Given the description of an element on the screen output the (x, y) to click on. 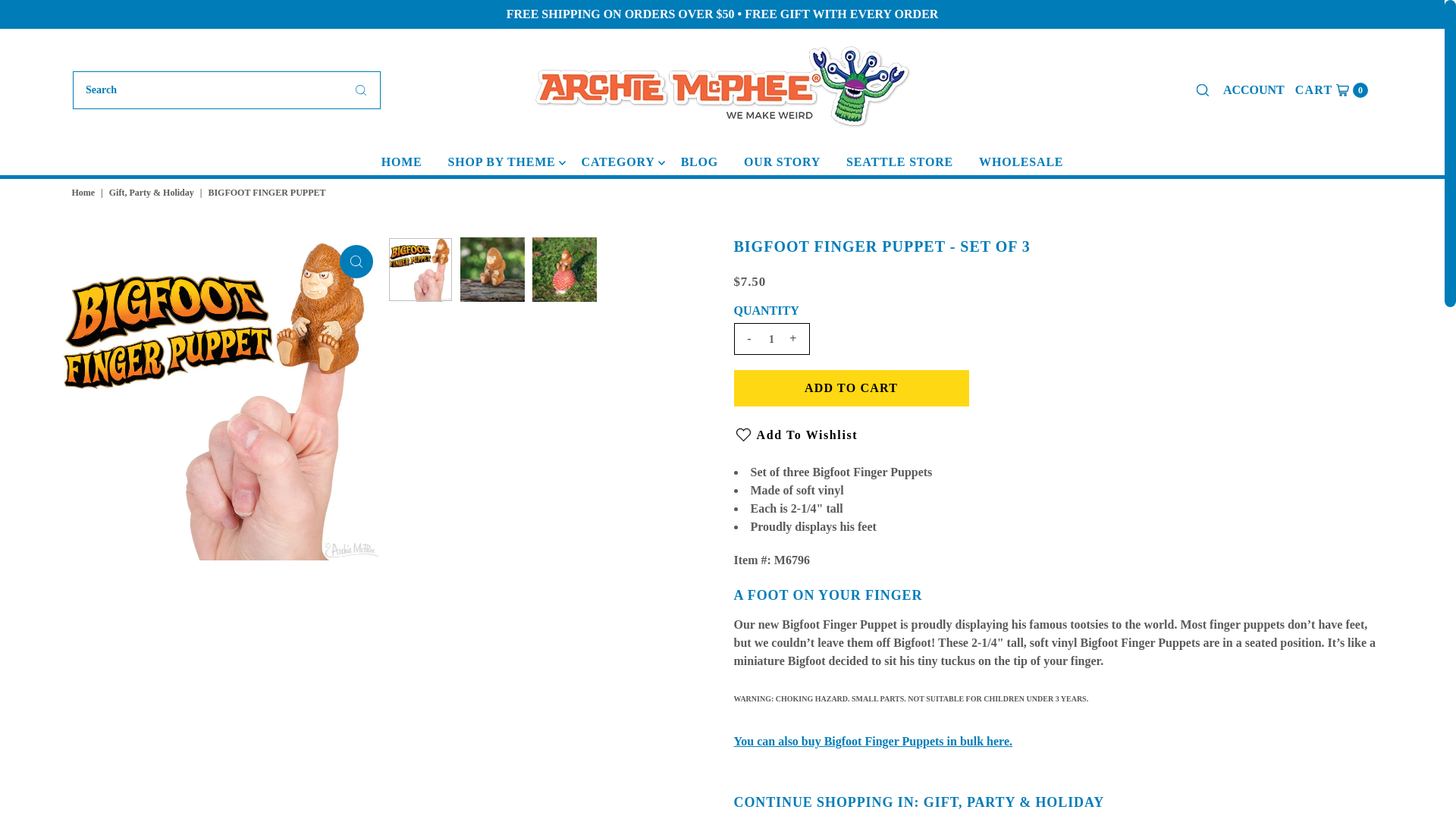
Add to Cart (851, 388)
Click to zoom (355, 261)
SHOP BY THEME (501, 161)
Home (1331, 89)
ACCOUNT (85, 192)
HOME (1254, 89)
